Given the description of an element on the screen output the (x, y) to click on. 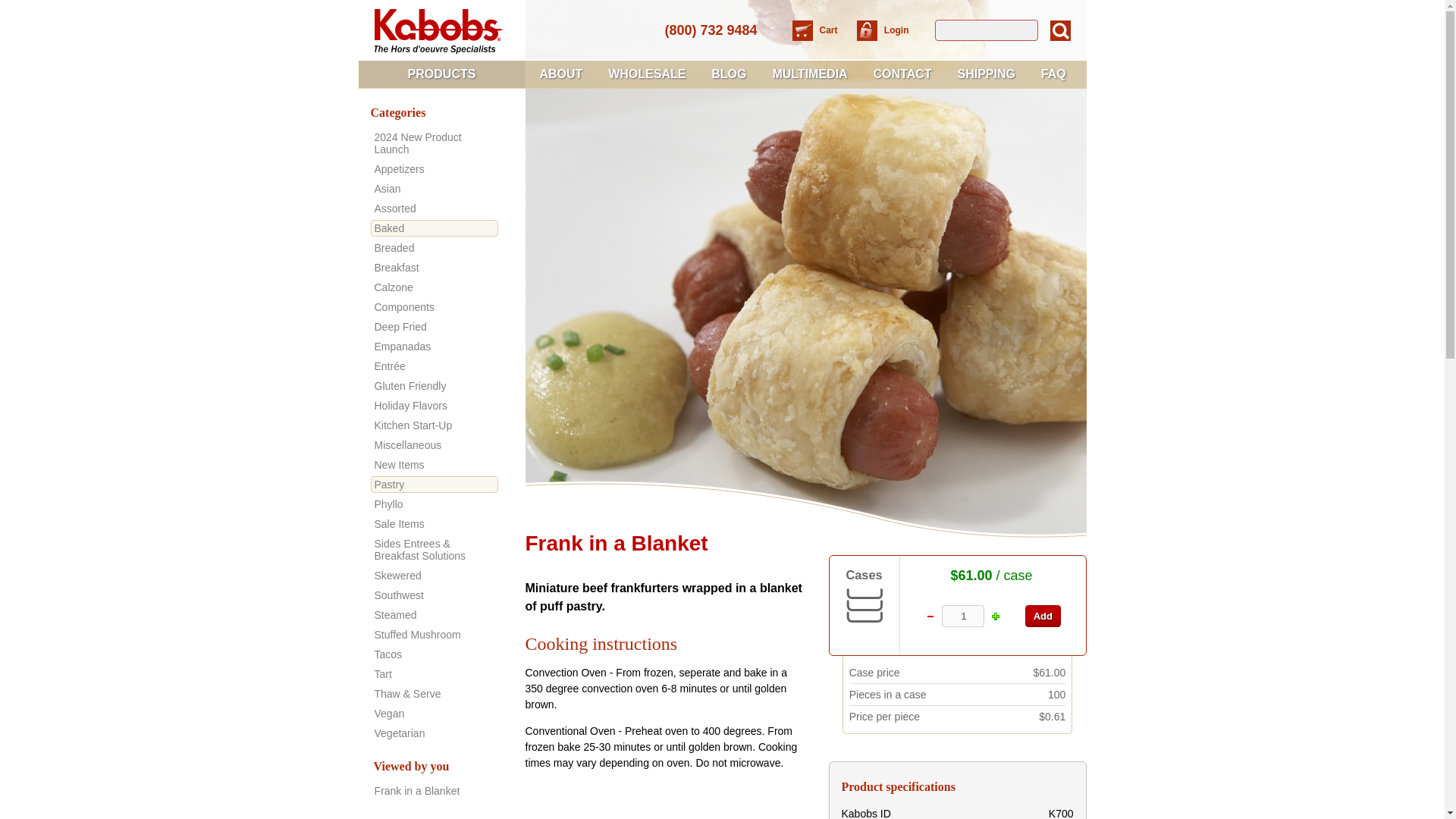
Kabobs (437, 30)
WHOLESALE (646, 74)
Kitchen Start-Up (433, 425)
Add cases to shopping cart (1043, 616)
Holiday Flavors (433, 405)
Add (1043, 616)
Gluten Friendly (433, 385)
SHIPPING (985, 74)
Assorted (433, 208)
Cart (821, 29)
